Given the description of an element on the screen output the (x, y) to click on. 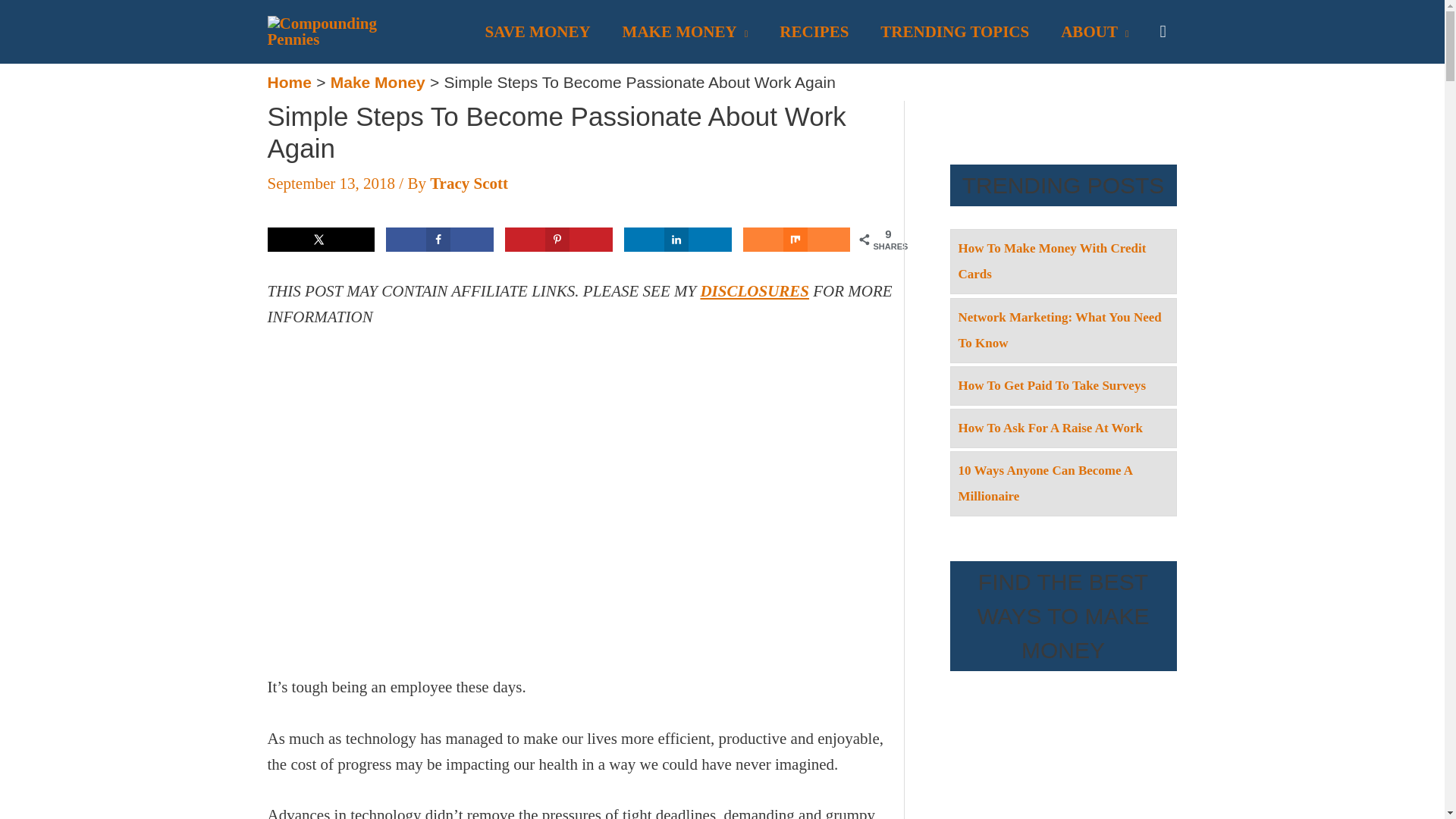
MAKE MONEY (685, 31)
Share on Mix (796, 239)
Tracy Scott (468, 183)
TRENDING TOPICS (954, 31)
Save to Pinterest (558, 239)
DISCLOSURES (754, 290)
RECIPES (813, 31)
Share on Facebook (439, 239)
ABOUT (1094, 31)
View all posts by Tracy Scott (468, 183)
